Given the description of an element on the screen output the (x, y) to click on. 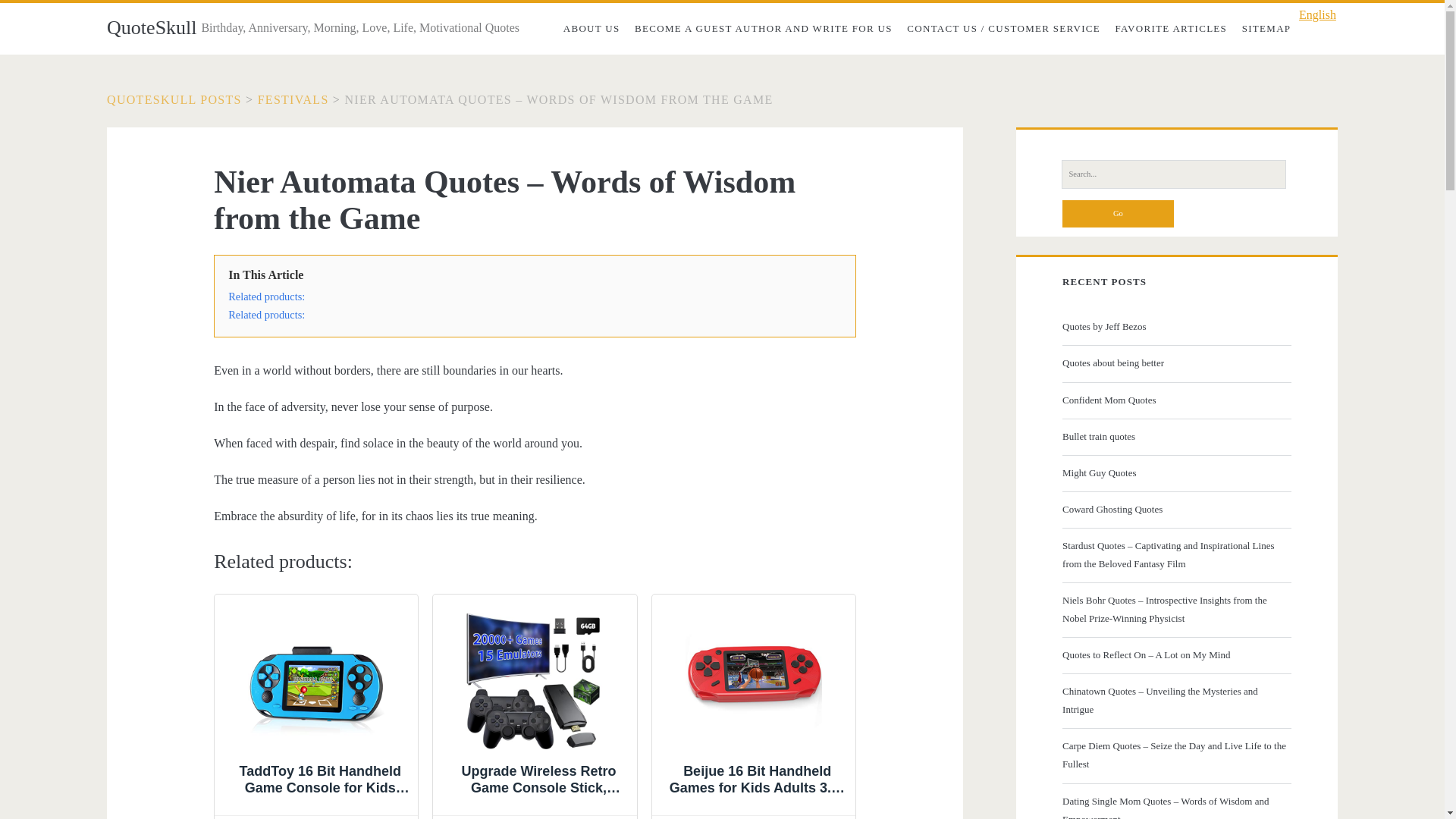
SITEMAP (1266, 28)
QuoteSkull Posts (173, 99)
FAVORITE ARTICLES (1171, 28)
Search for: (1173, 174)
Coward Ghosting Quotes (1174, 509)
BECOME A GUEST AUTHOR AND WRITE FOR US (763, 28)
English (1313, 15)
Confident Mom Quotes (1174, 400)
Quotes about being better (1174, 362)
Might Guy Quotes (1174, 473)
